Given the description of an element on the screen output the (x, y) to click on. 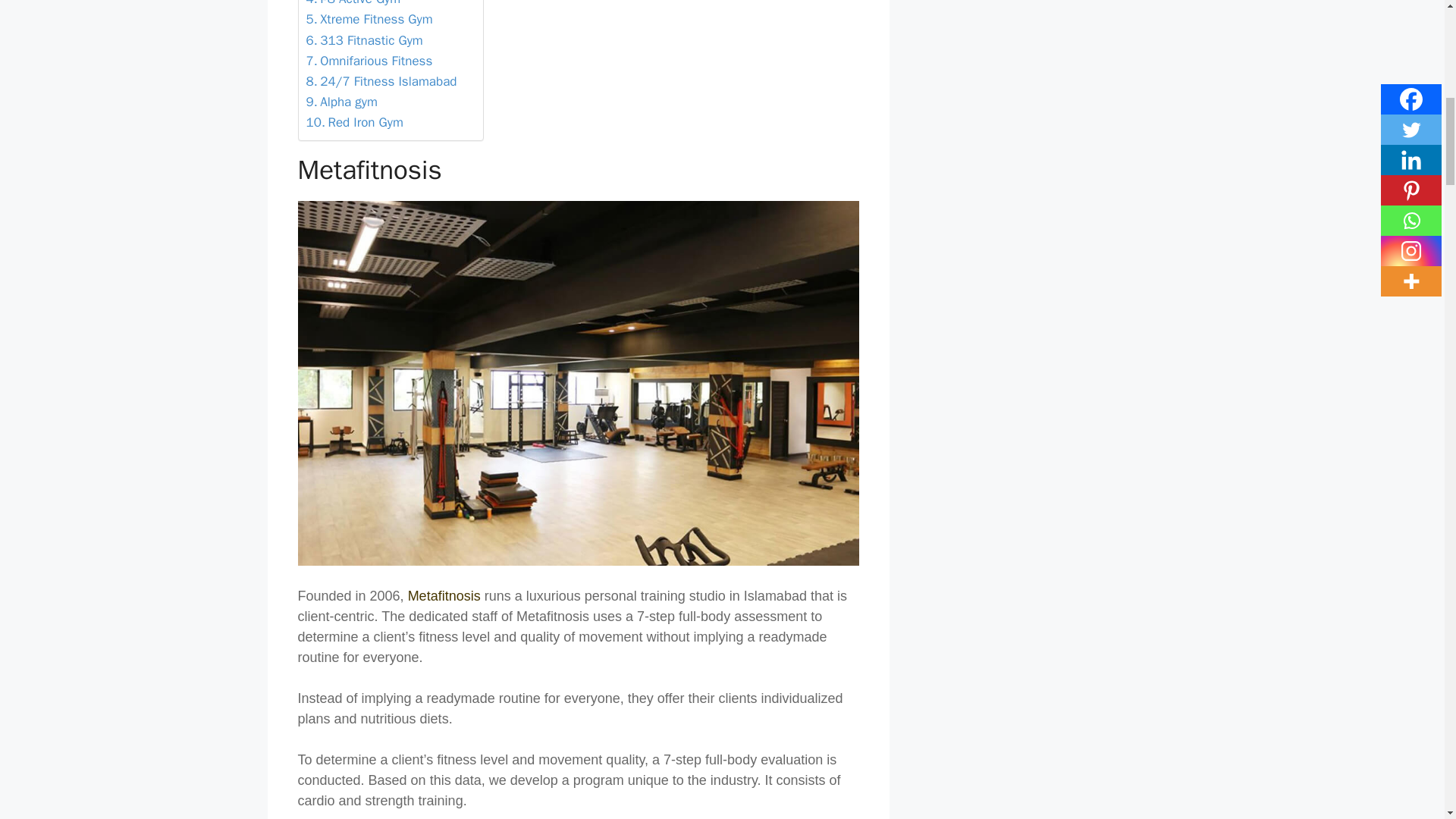
Xtreme Fitness Gym (368, 19)
Red Iron Gym (354, 122)
Xtreme Fitness Gym (368, 19)
Omnifarious Fitness (368, 60)
I-8 Active Gym (353, 4)
Alpha gym (341, 101)
Metafitnosis (443, 595)
Omnifarious Fitness (368, 60)
Alpha gym (341, 101)
I-8 Active Gym (353, 4)
